Given the description of an element on the screen output the (x, y) to click on. 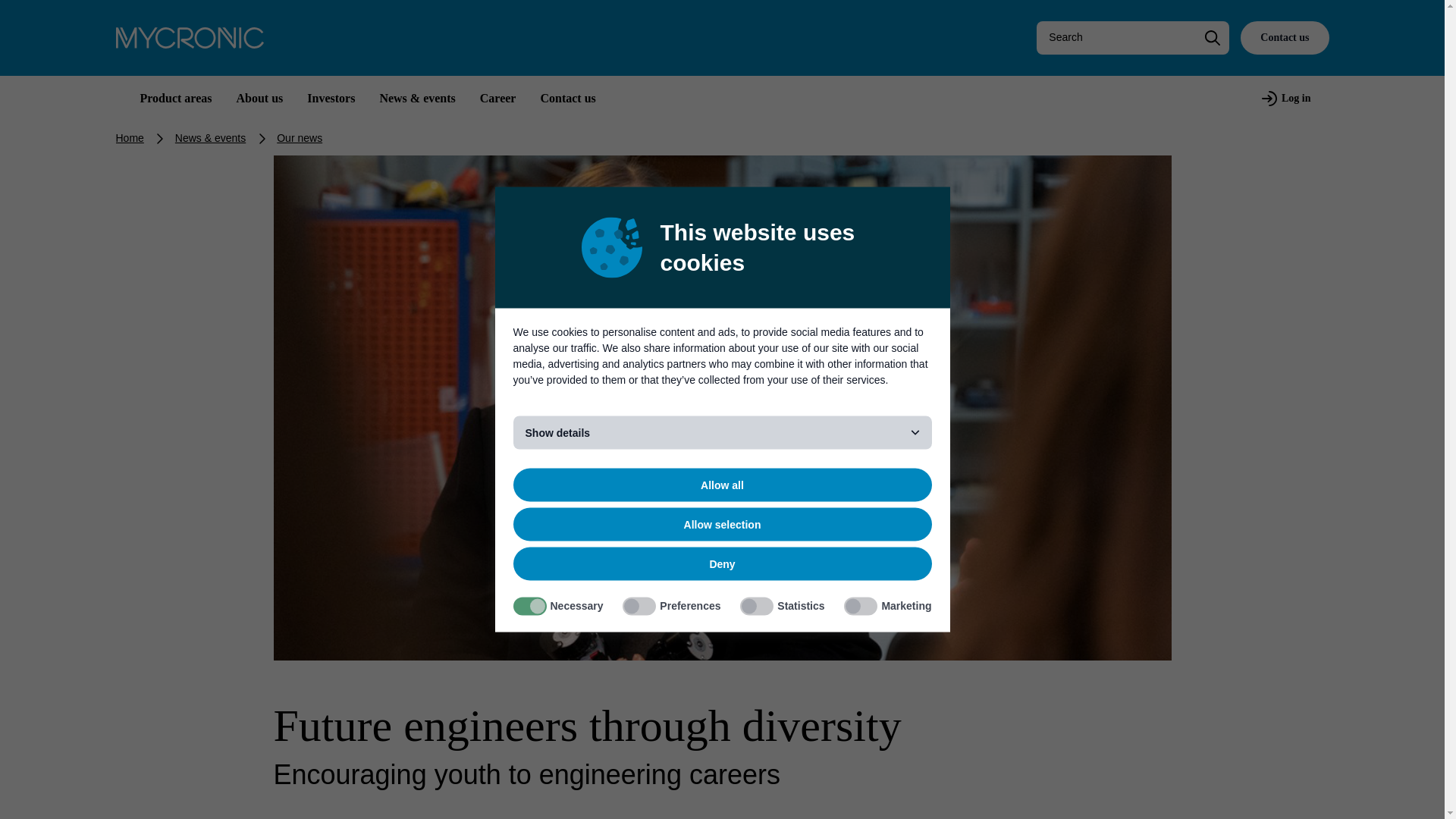
Deny (721, 563)
Allow selection (721, 524)
Contact us (1283, 37)
Allow all (721, 485)
